Given the description of an element on the screen output the (x, y) to click on. 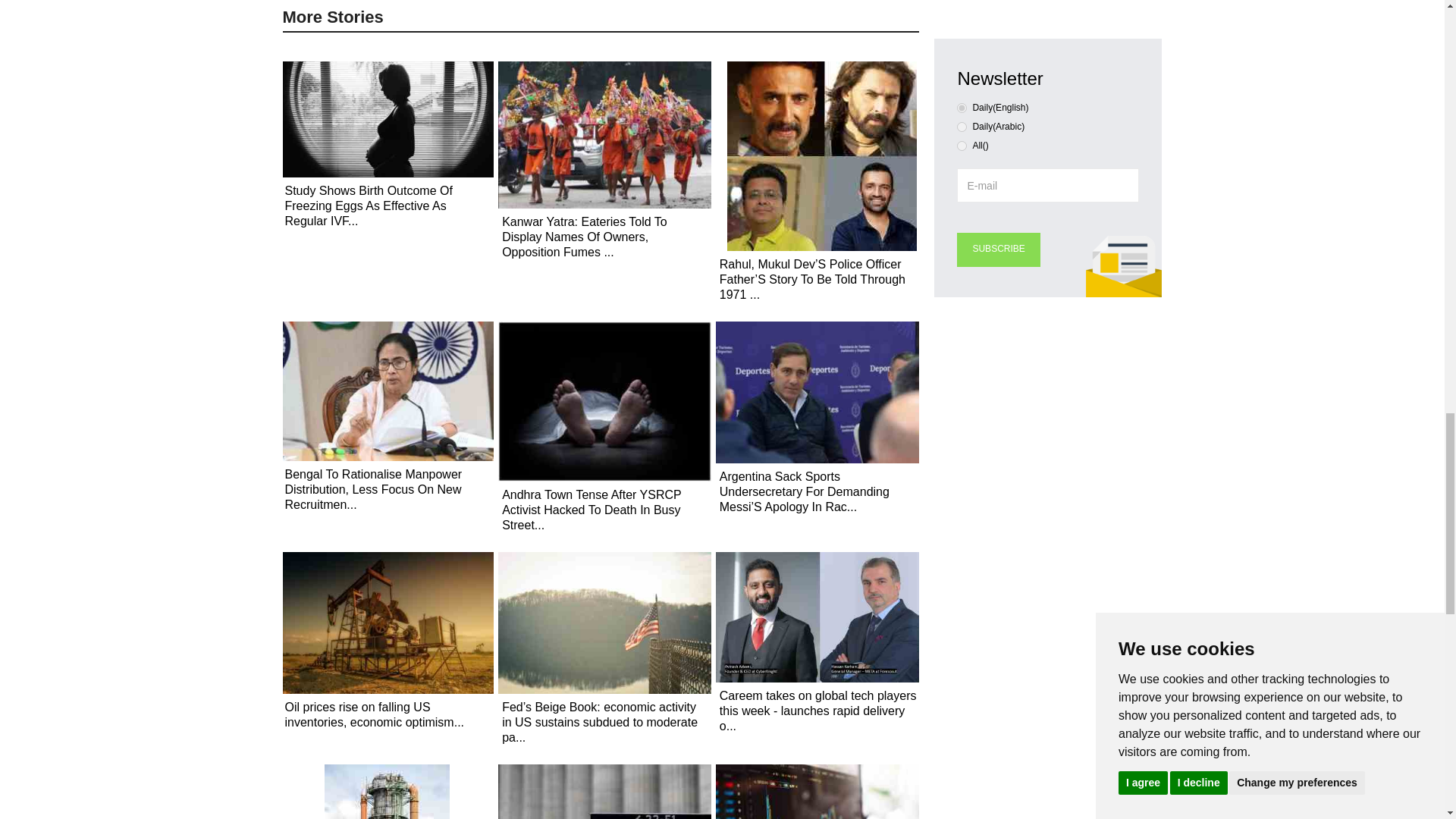
0 (961, 108)
Subscribe (997, 249)
2 (961, 145)
1 (961, 126)
